Given the description of an element on the screen output the (x, y) to click on. 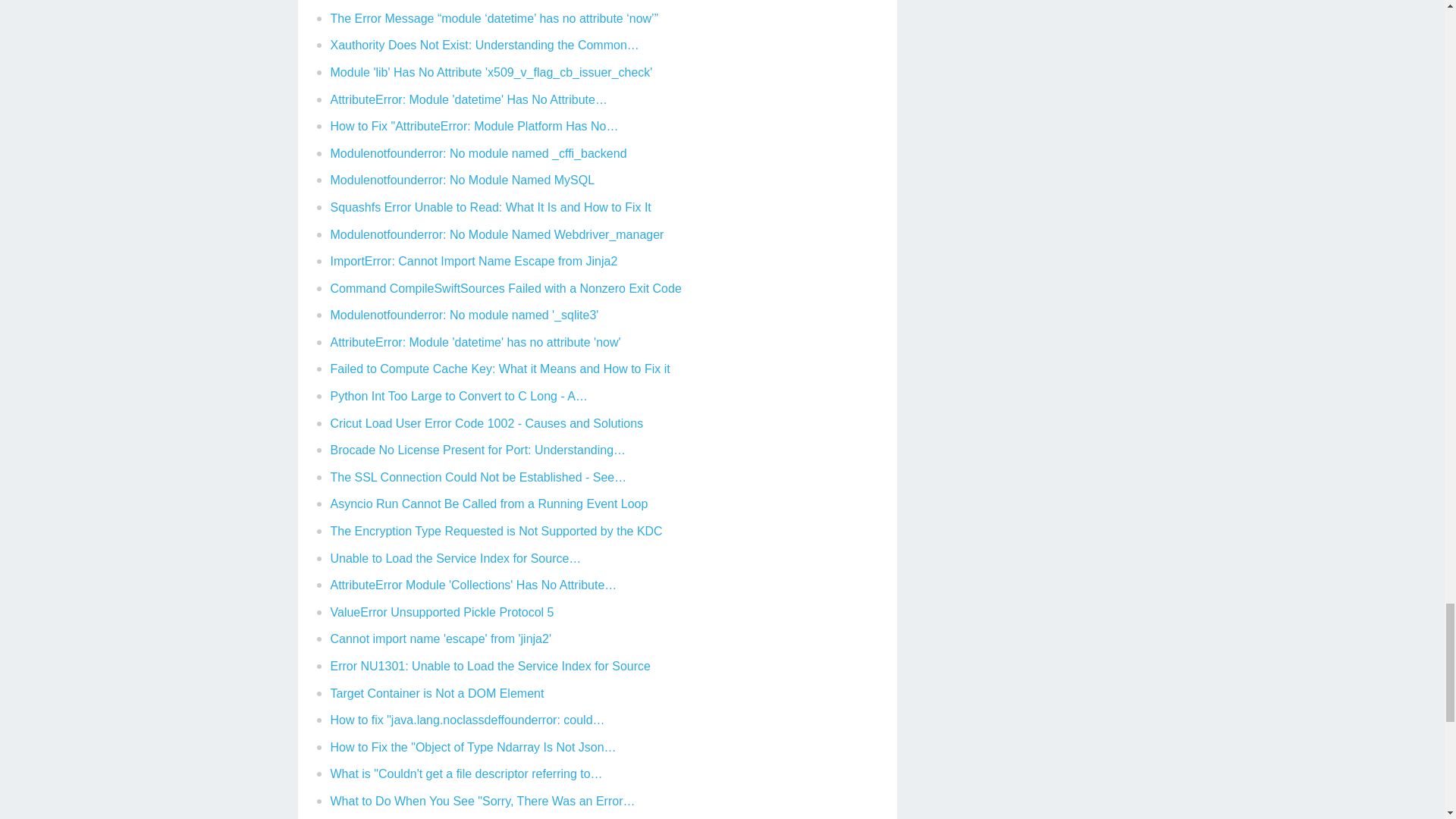
Squashfs Error Unable to Read: What It Is and How to Fix It (490, 206)
Failed to Compute Cache Key: What it Means and How to Fix it (499, 368)
Asyncio Run Cannot Be Called from a Running Event Loop (488, 503)
Cricut Load User Error Code 1002 - Causes and Solutions (486, 422)
Command CompileSwiftSources Failed with a Nonzero Exit Code (505, 287)
Modulenotfounderror: No Module Named MySQL (462, 179)
The Encryption Type Requested is Not Supported by the KDC (496, 530)
AttributeError: Module 'datetime' has no attribute 'now' (475, 341)
ImportError: Cannot Import Name Escape from Jinja2 (473, 260)
